Given the description of an element on the screen output the (x, y) to click on. 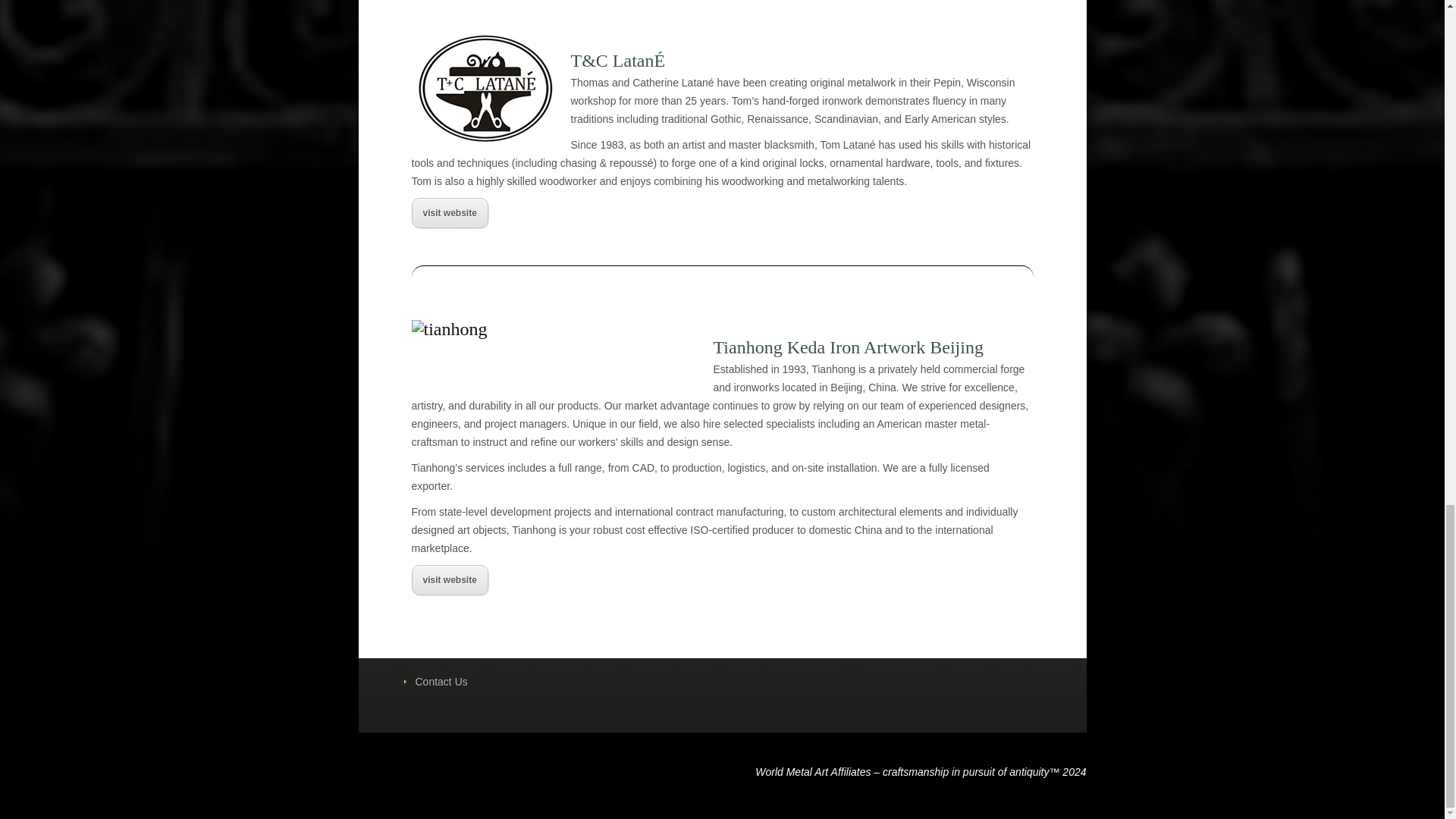
visit website (448, 213)
visit website (448, 580)
Contact Us (440, 681)
